Given the description of an element on the screen output the (x, y) to click on. 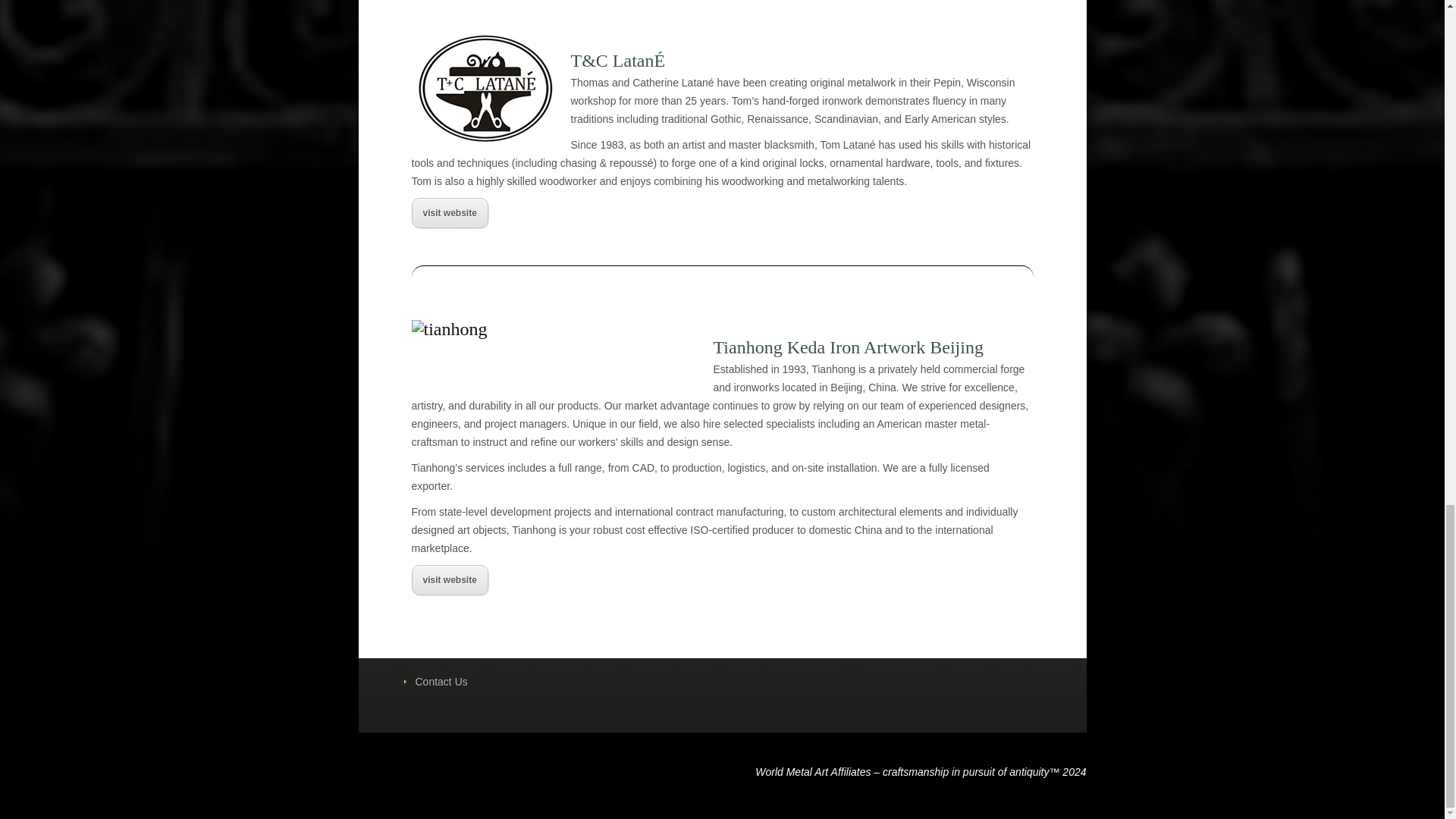
visit website (448, 213)
visit website (448, 580)
Contact Us (440, 681)
